Given the description of an element on the screen output the (x, y) to click on. 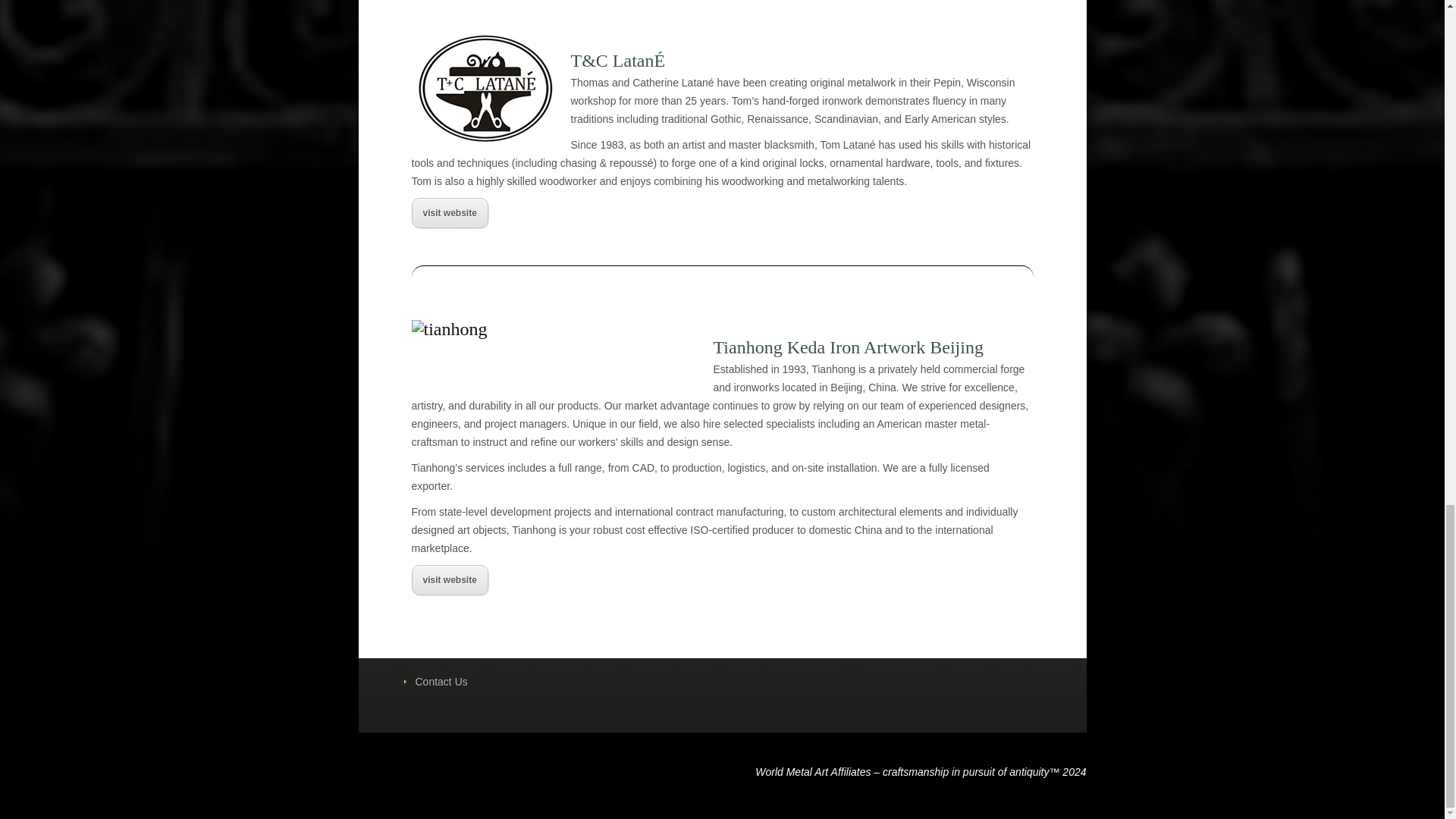
visit website (448, 213)
visit website (448, 580)
Contact Us (440, 681)
